Given the description of an element on the screen output the (x, y) to click on. 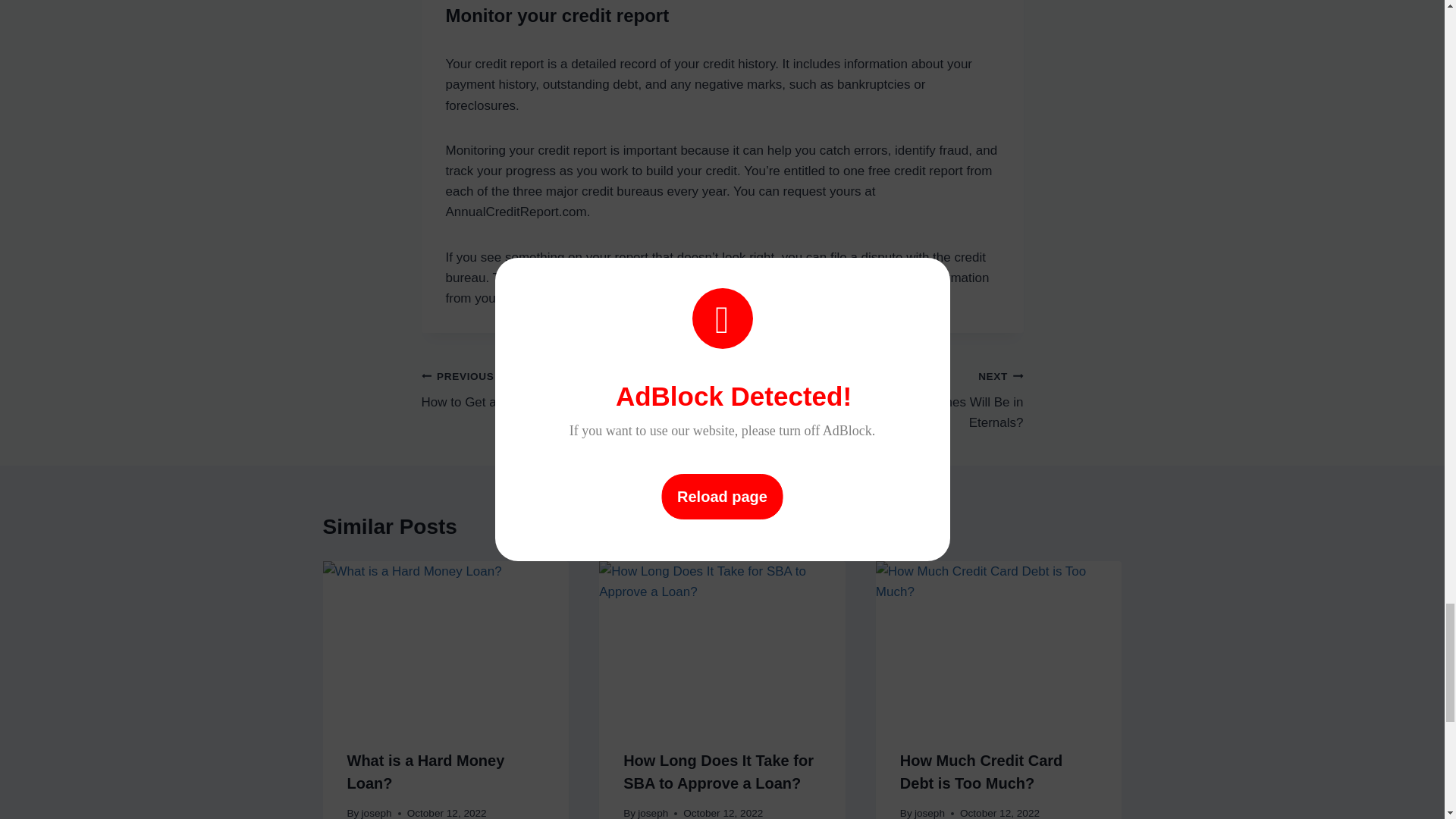
What is a Hard Money Loan? (572, 389)
joseph (426, 771)
joseph (652, 813)
How Long Does It Take for SBA to Approve a Loan? (376, 813)
